Given the description of an element on the screen output the (x, y) to click on. 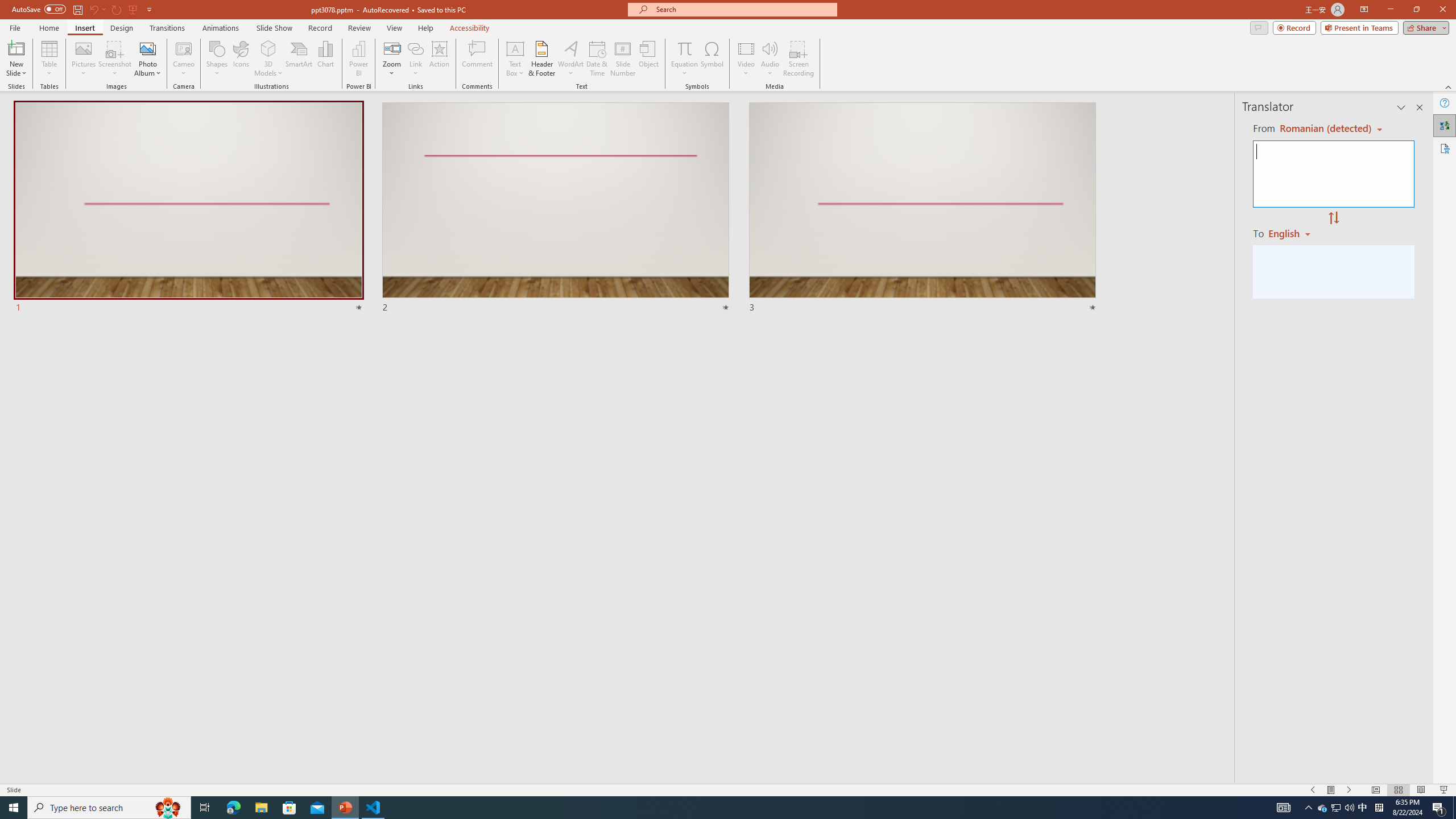
New Photo Album... (147, 48)
Restore Down (1416, 9)
Slide (923, 207)
Object... (649, 58)
SmartArt... (298, 58)
Close pane (1419, 107)
Screenshot (114, 58)
Transitions (167, 28)
